Given the description of an element on the screen output the (x, y) to click on. 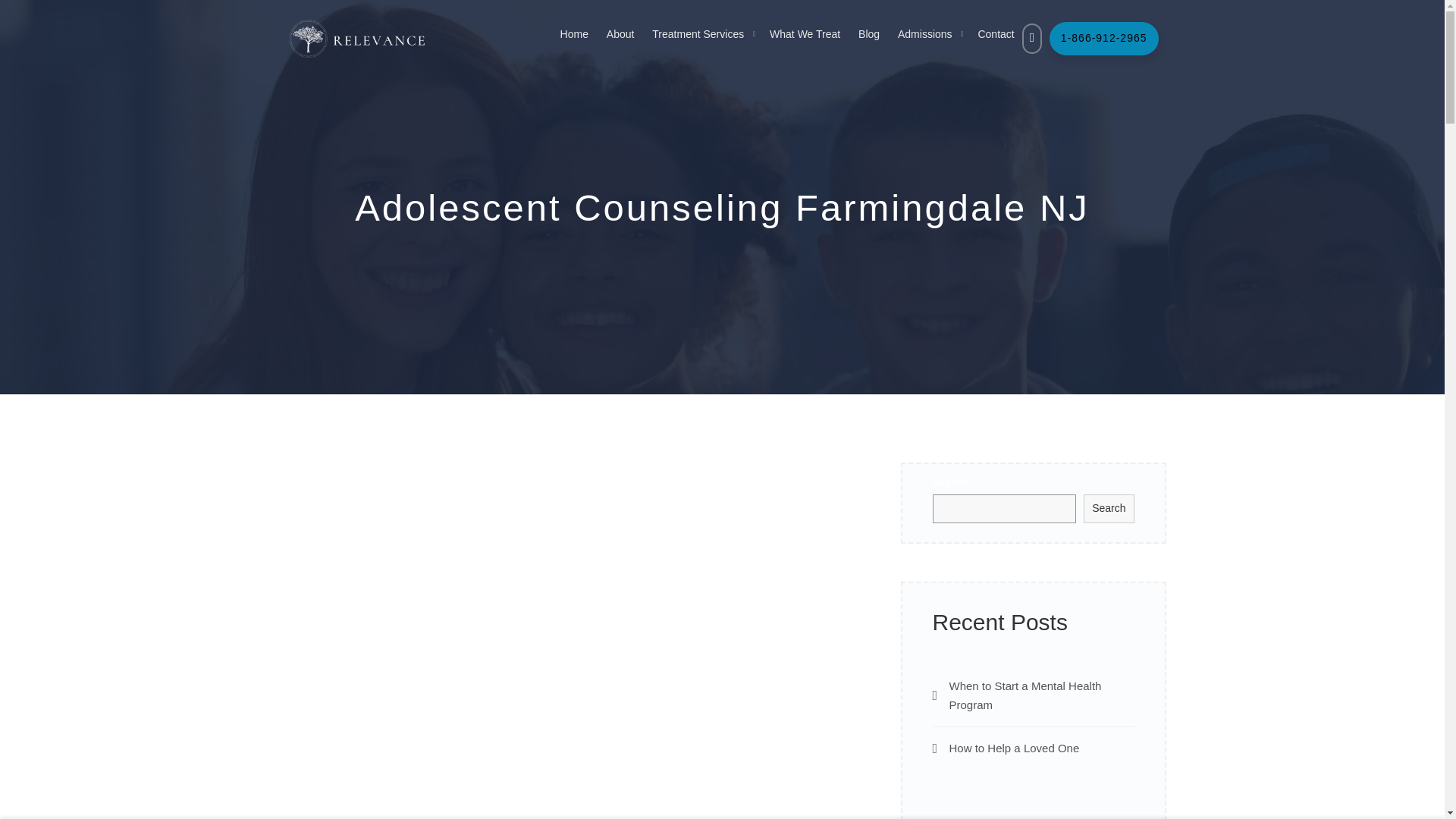
Contact (994, 33)
Home (574, 33)
About (620, 33)
What We Treat (805, 33)
Treatment Services (698, 33)
Admissions (925, 33)
Blog (869, 33)
1-866-912-2965 (1103, 38)
